Given the description of an element on the screen output the (x, y) to click on. 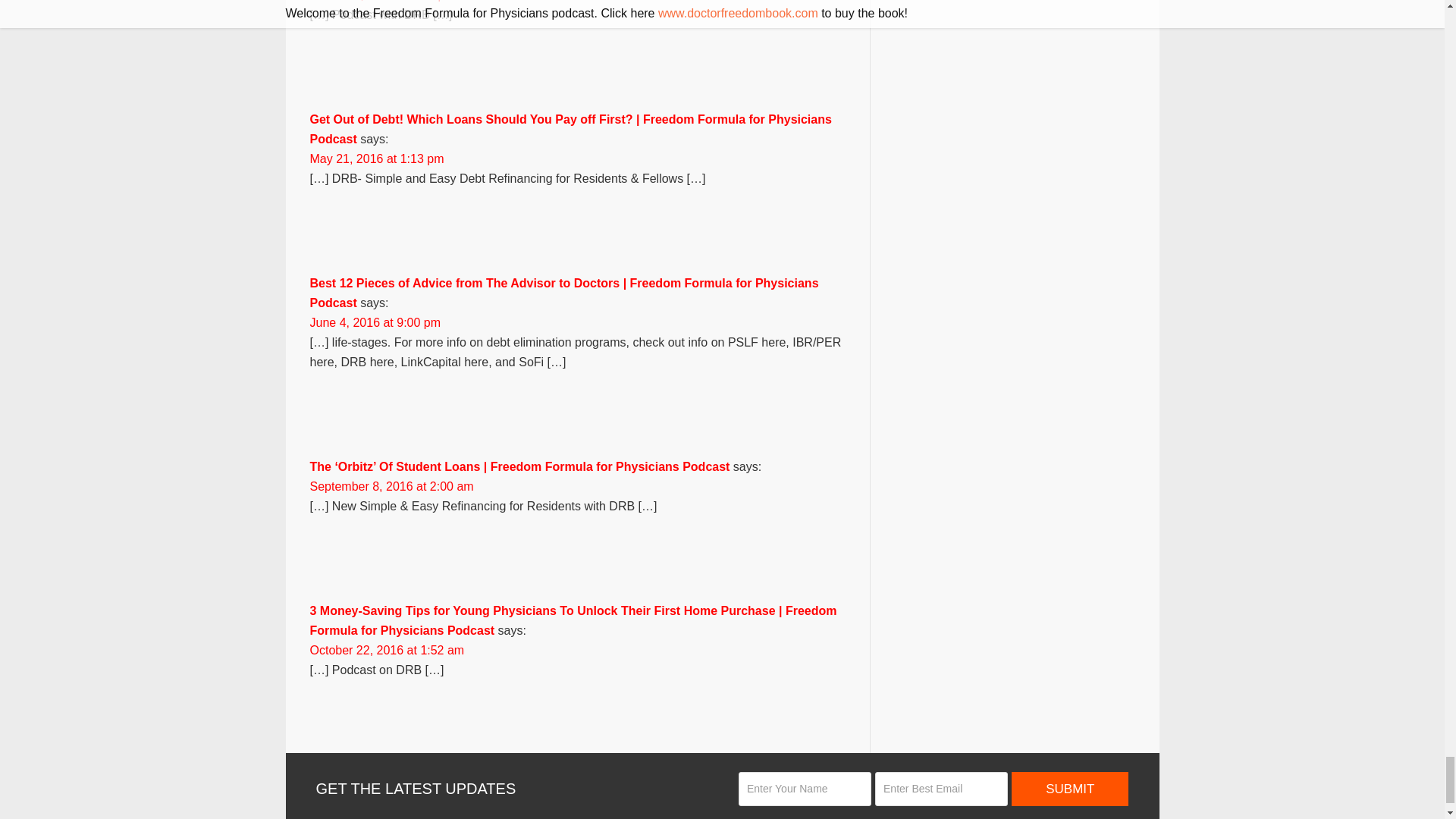
Enter Best Email (941, 788)
March 21, 2016 at 6:18 pm (381, 0)
Enter Your Name (804, 788)
September 8, 2016 at 2:00 am (390, 486)
Submit (1069, 788)
May 21, 2016 at 1:13 pm (376, 158)
October 22, 2016 at 1:52 am (386, 649)
June 4, 2016 at 9:00 pm (374, 322)
